Given the description of an element on the screen output the (x, y) to click on. 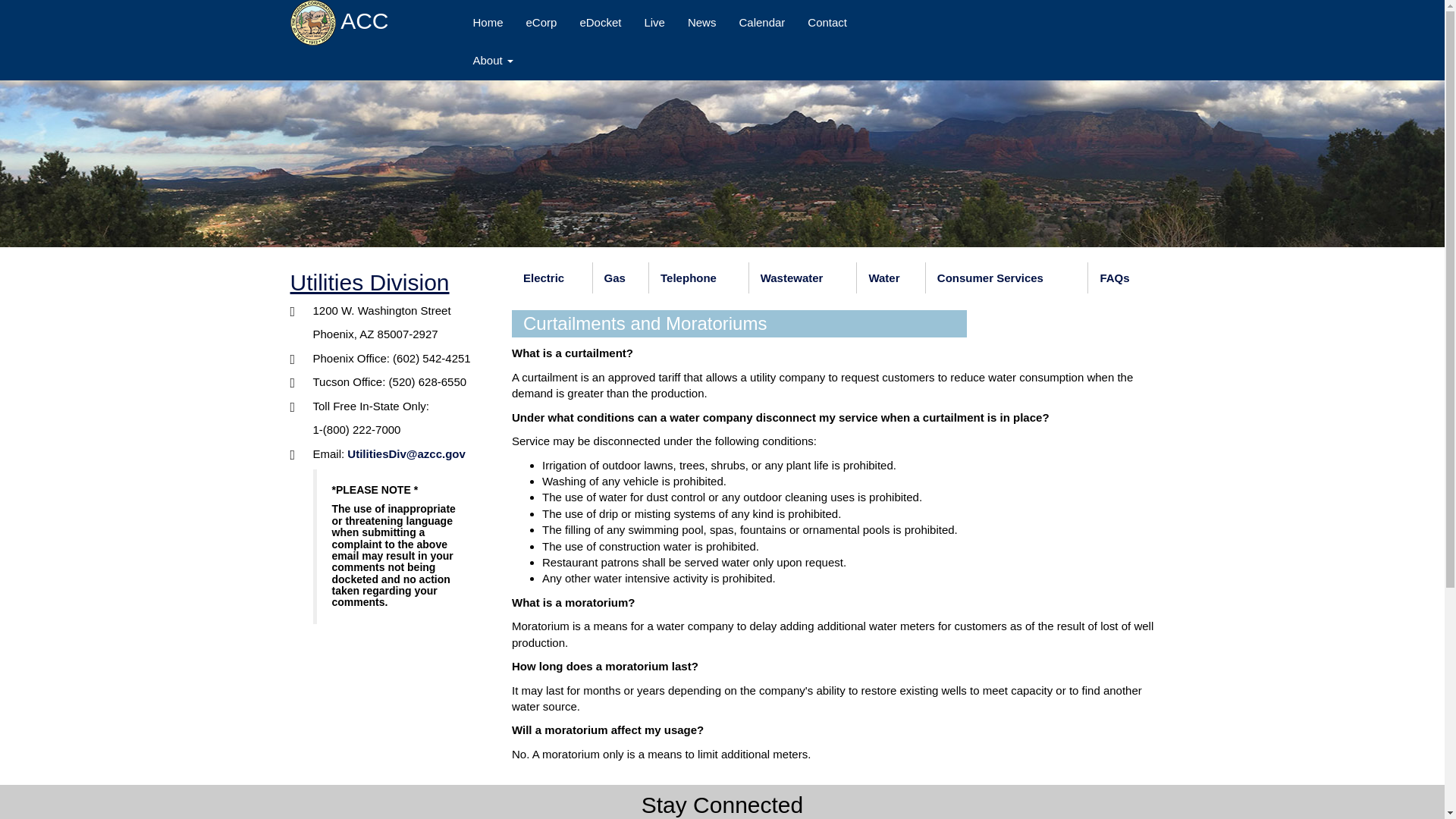
Utilities Division (368, 282)
Telephone (698, 277)
eCorp (542, 22)
About (492, 60)
Live (654, 22)
Consumer Services (1006, 277)
eDocket (599, 22)
Wastewater (803, 277)
Home (487, 22)
FAQs (1120, 277)
Contact (827, 22)
Electric (552, 277)
Gas (619, 277)
News (702, 22)
Water (890, 277)
